Given the description of an element on the screen output the (x, y) to click on. 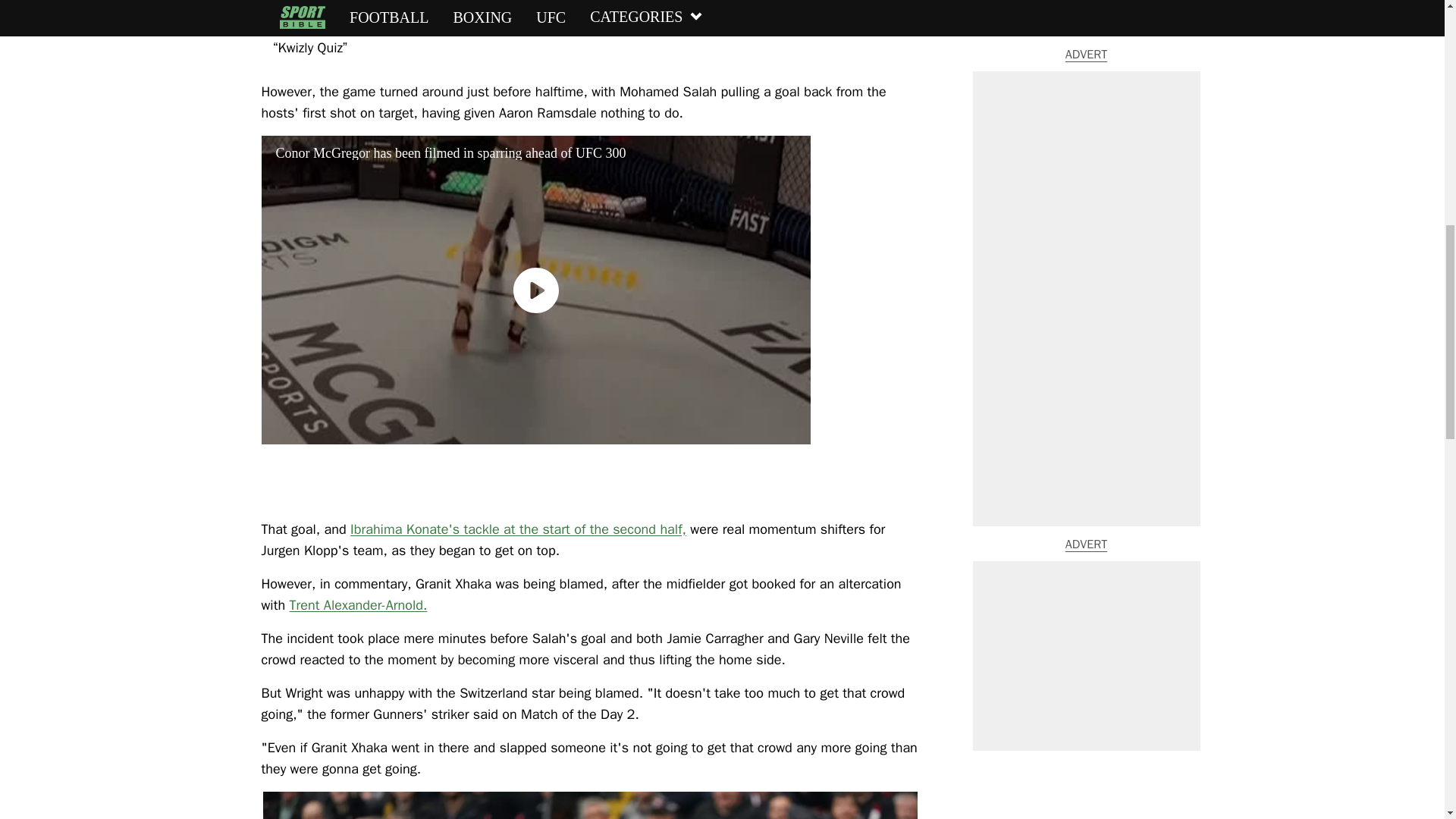
3rd party ad content (1085, 78)
